Given the description of an element on the screen output the (x, y) to click on. 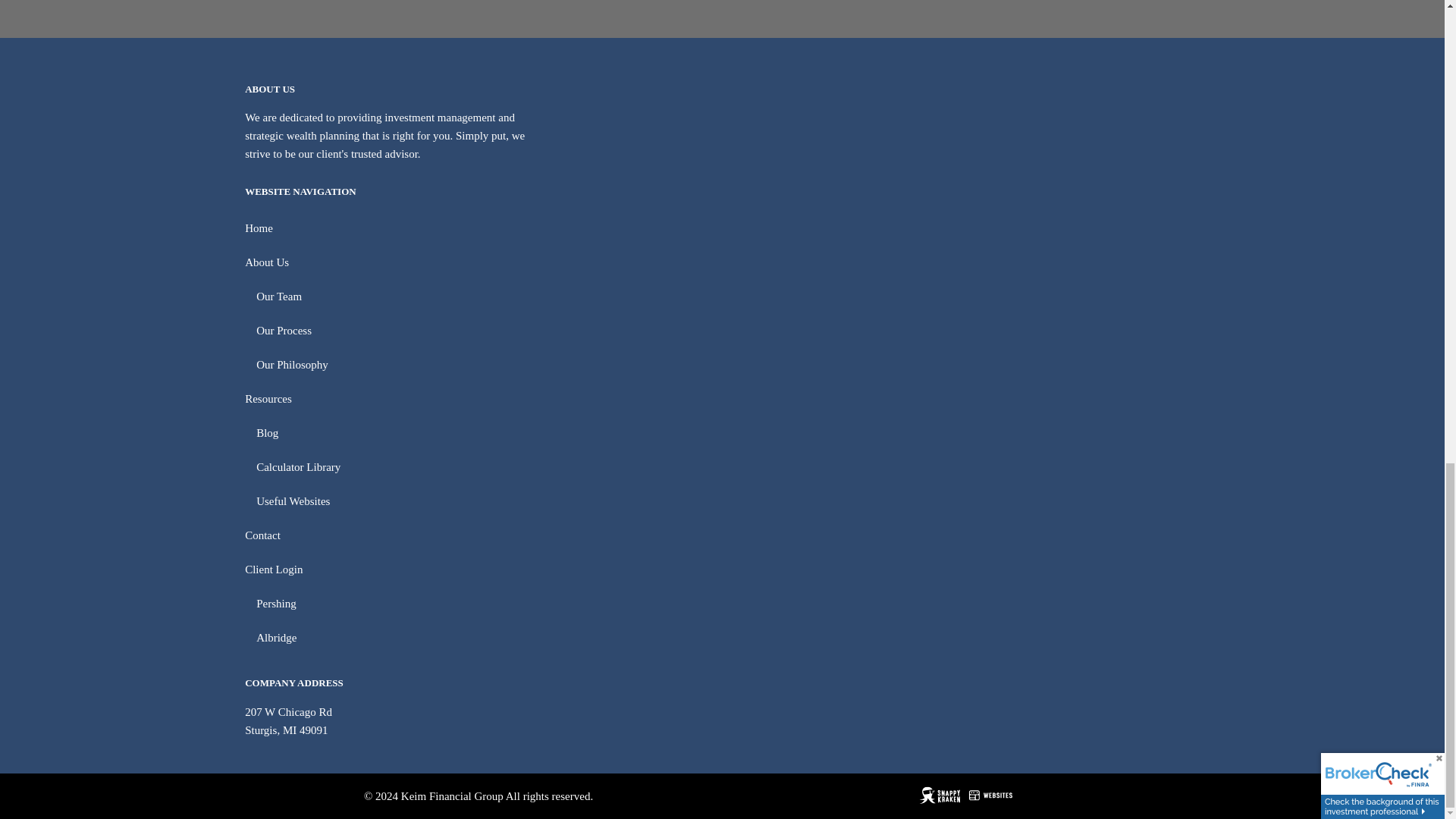
Albridge (727, 637)
Calculator Library (727, 467)
Pershing (727, 603)
Contact (721, 535)
Our Process (727, 330)
Our Philosophy (727, 365)
Home (721, 228)
Useful Websites (727, 501)
Client Login (721, 569)
Resources (721, 399)
About Us (721, 262)
Blog (727, 433)
Our Team (727, 296)
